Given the description of an element on the screen output the (x, y) to click on. 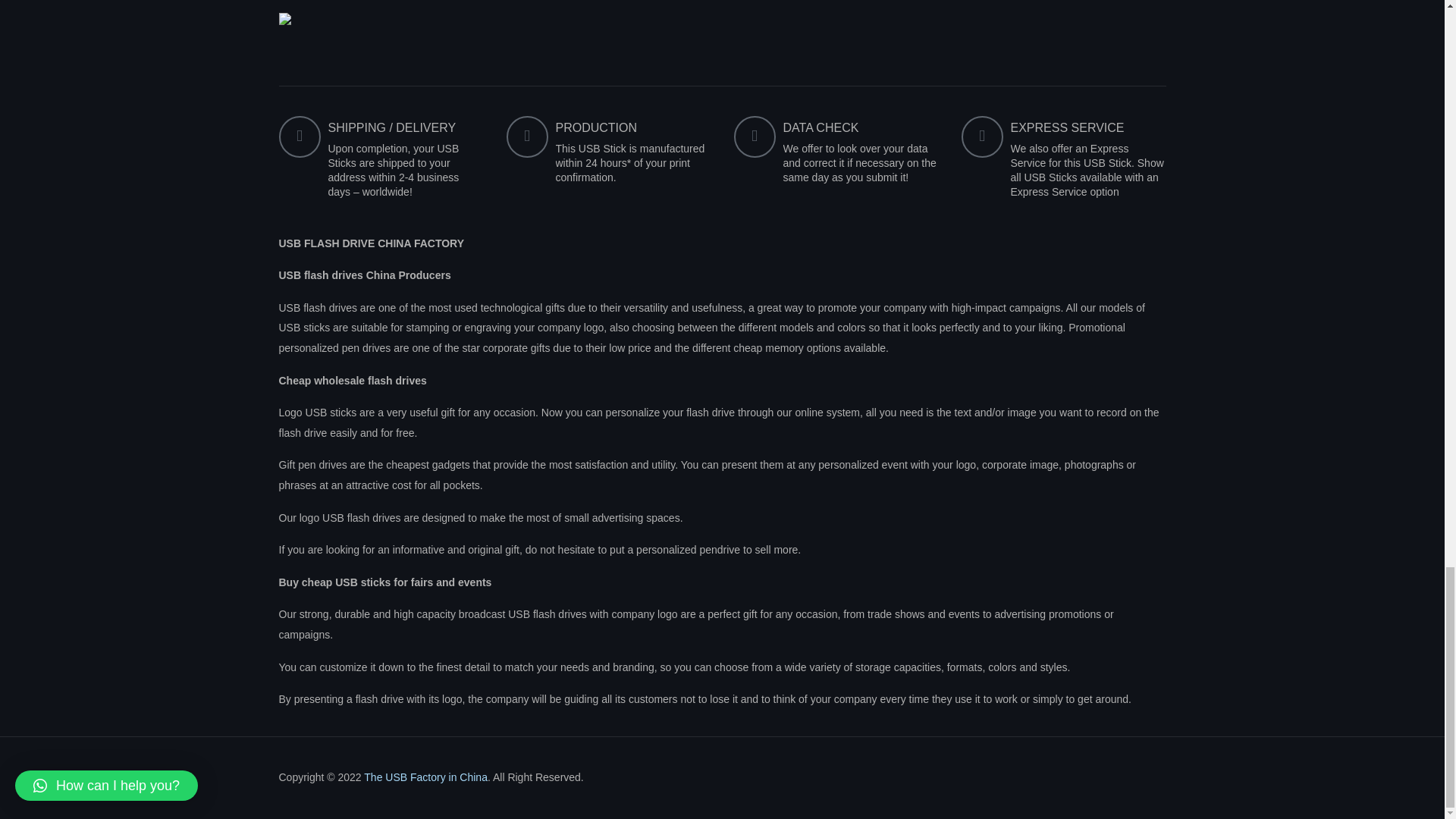
payment-icon (1046, 777)
